Given the description of an element on the screen output the (x, y) to click on. 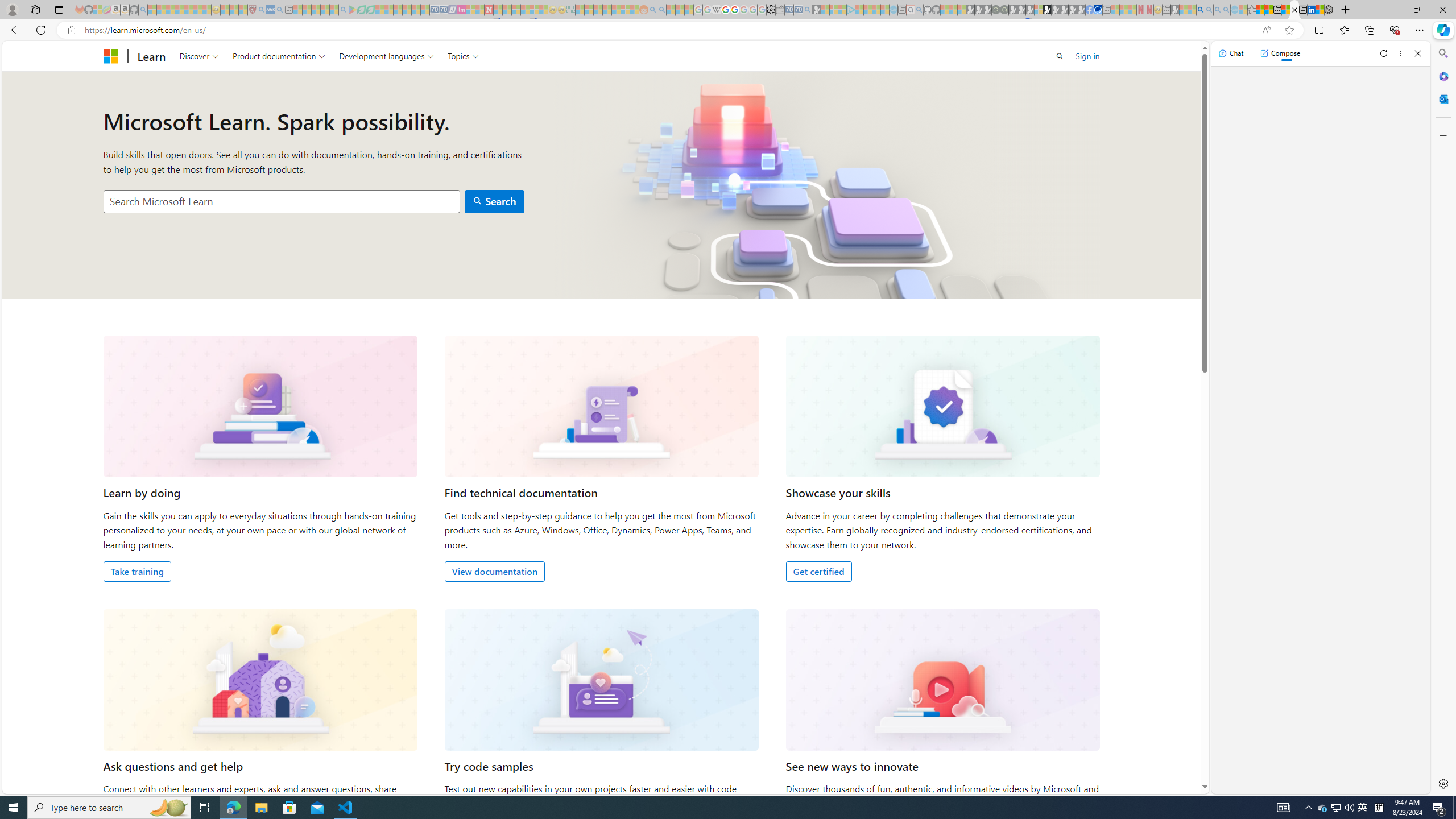
Product documentation (278, 55)
